Given the description of an element on the screen output the (x, y) to click on. 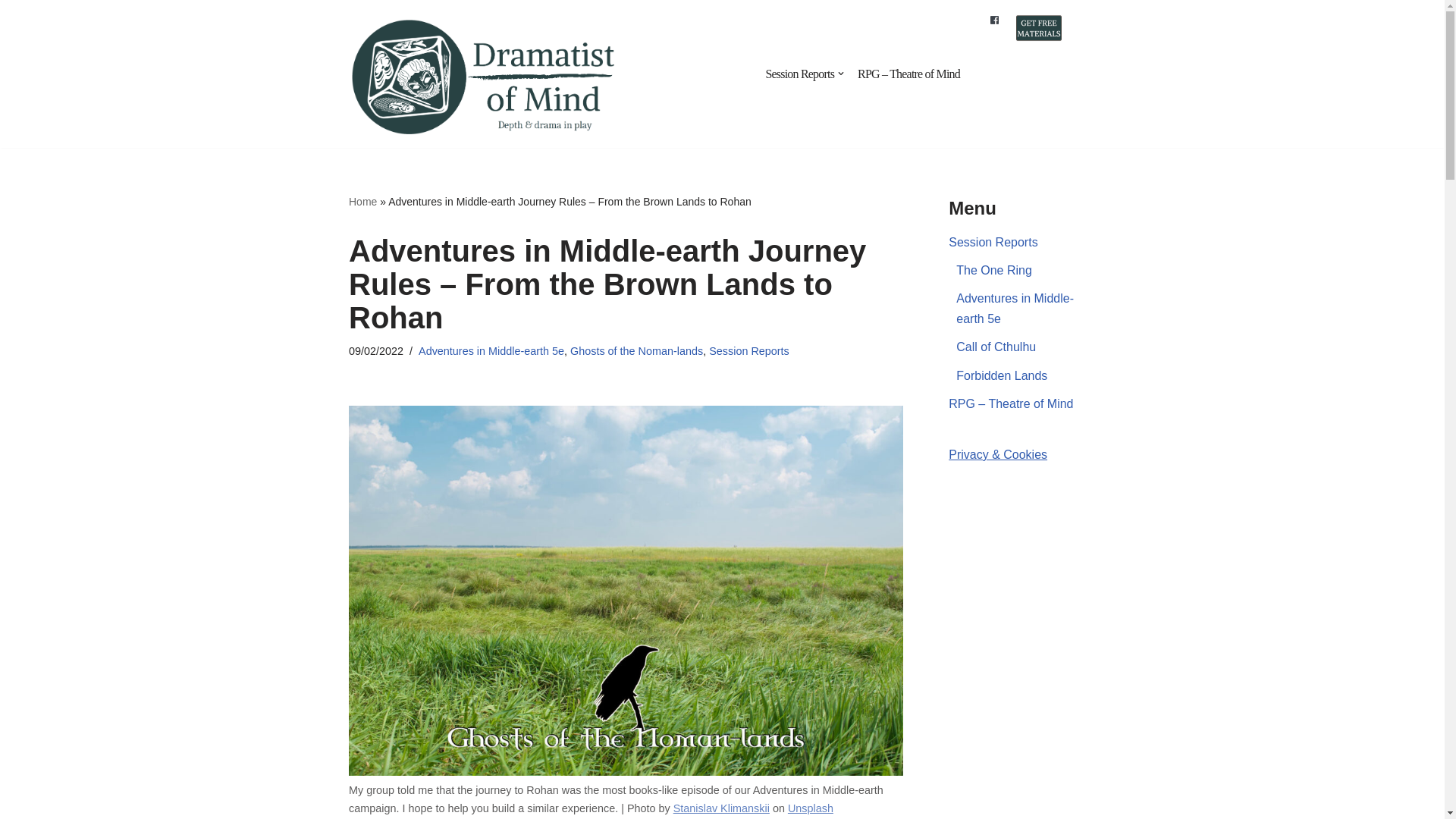
Session Reports (749, 350)
Home (363, 201)
Stanislav Klimanskii (721, 808)
Dramatist of Mind - Facebook (994, 19)
Session Reports (799, 73)
Unsplash (809, 808)
Adventures in Middle-earth 5e (491, 350)
Dramatist of Mind - Facebook (994, 21)
Ghosts of the Noman-lands (636, 350)
Session Reports (992, 241)
Skip to content (11, 31)
